Given the description of an element on the screen output the (x, y) to click on. 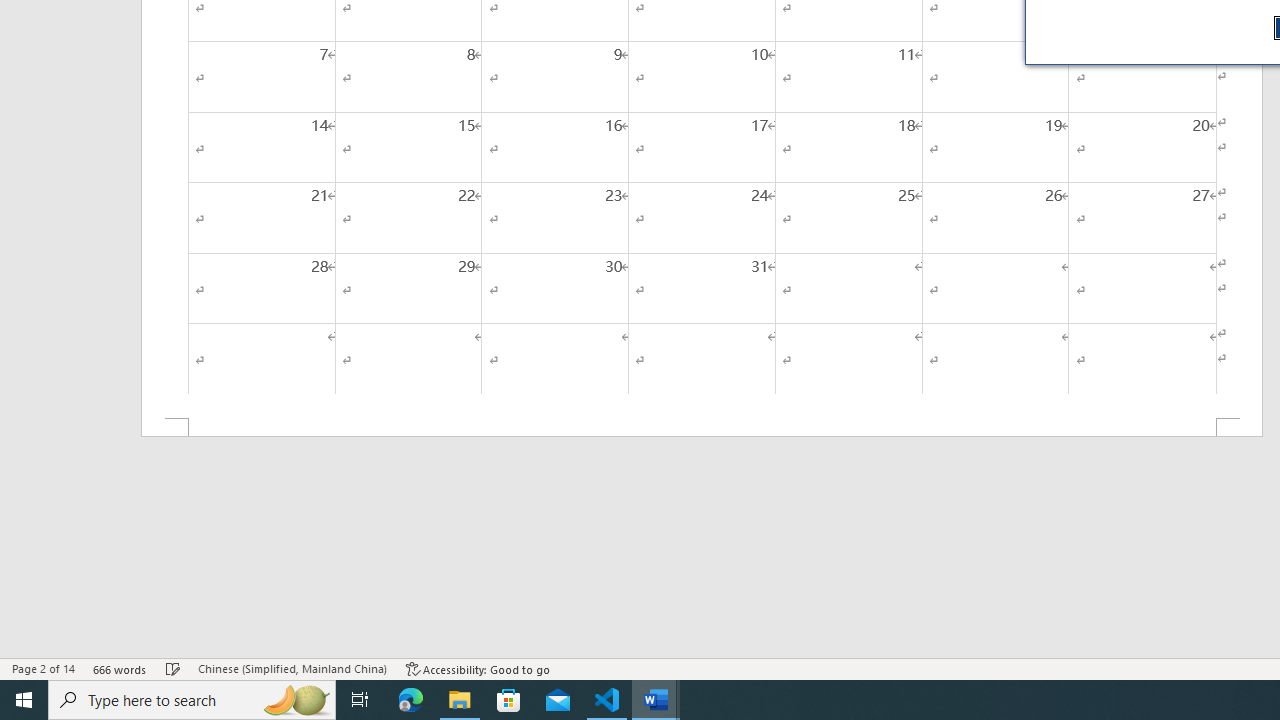
Type here to search (191, 699)
Language Chinese (Simplified, Mainland China) (292, 668)
Word Count 666 words (119, 668)
File Explorer - 1 running window (460, 699)
Search highlights icon opens search home window (295, 699)
Page Number Page 2 of 14 (43, 668)
Spelling and Grammar Check Checking (173, 668)
Microsoft Store (509, 699)
Accessibility Checker Accessibility: Good to go (478, 668)
Visual Studio Code - 1 running window (607, 699)
Footer -Section 1- (701, 427)
Start (24, 699)
Word - 2 running windows (656, 699)
